Given the description of an element on the screen output the (x, y) to click on. 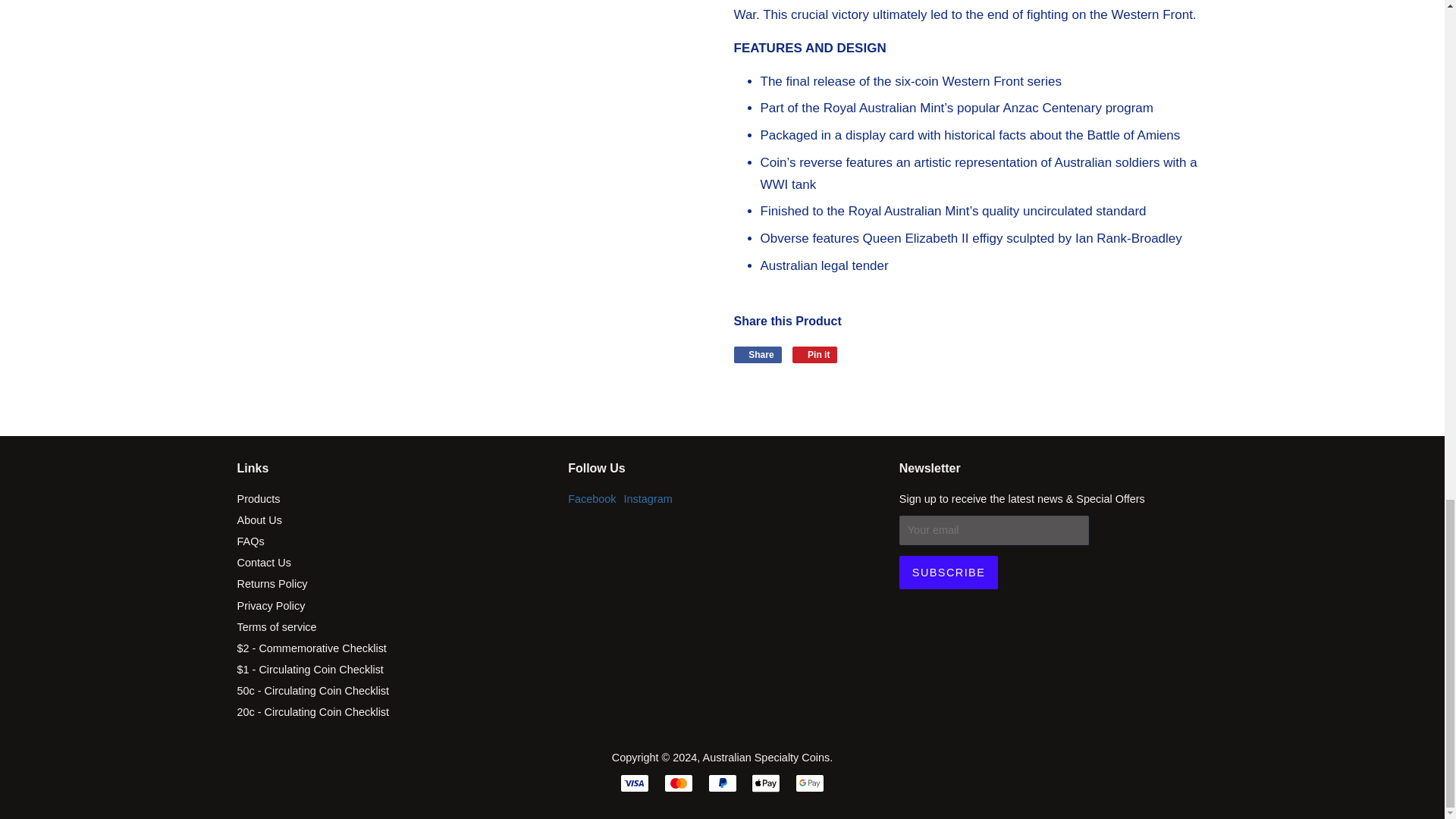
Visa (634, 782)
Subscribe (948, 572)
Apple Pay (765, 782)
Mastercard (678, 782)
Share on Facebook (757, 354)
Australian Specialty Coins on Instagram (648, 499)
Pin on Pinterest (814, 354)
Google Pay (809, 782)
Australian Specialty Coins on Facebook (591, 499)
PayPal (721, 782)
